Given the description of an element on the screen output the (x, y) to click on. 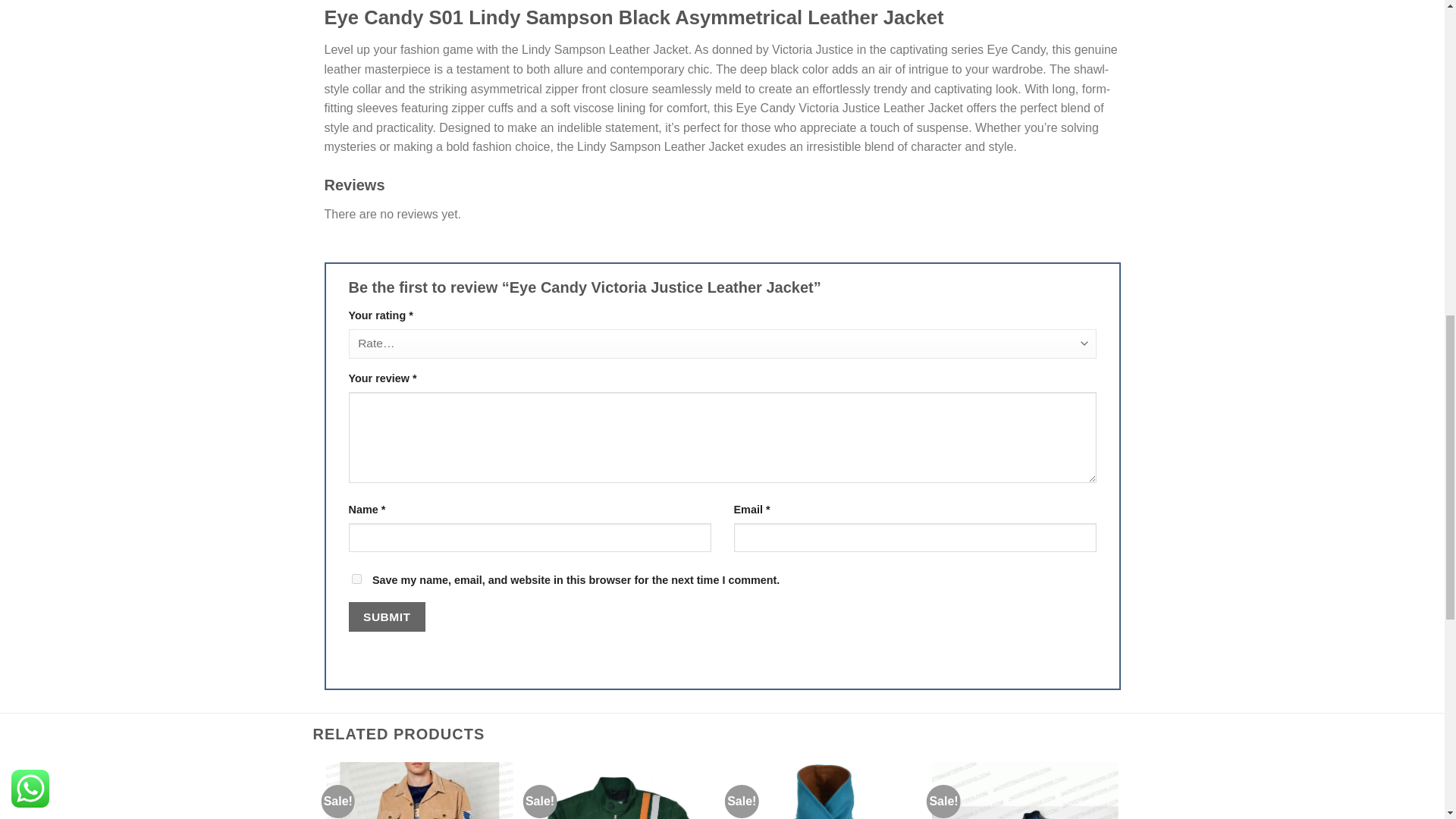
yes (356, 578)
Submit (387, 616)
